Given the description of an element on the screen output the (x, y) to click on. 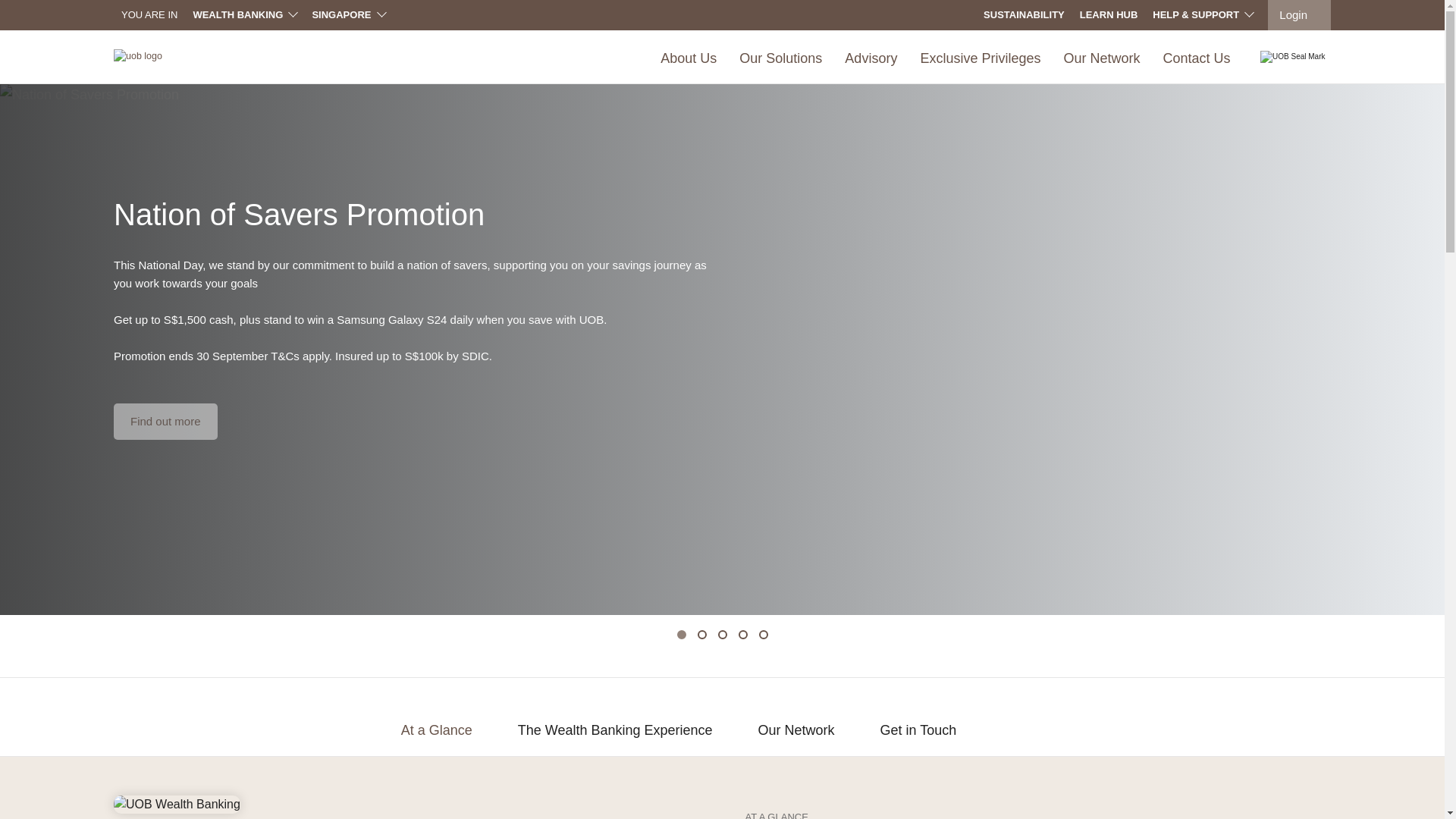
SINGAPORE (347, 14)
LEARN HUB (1109, 14)
WEALTH BANKING (244, 14)
SUSTAINABILITY (1024, 14)
header (244, 14)
